Given the description of an element on the screen output the (x, y) to click on. 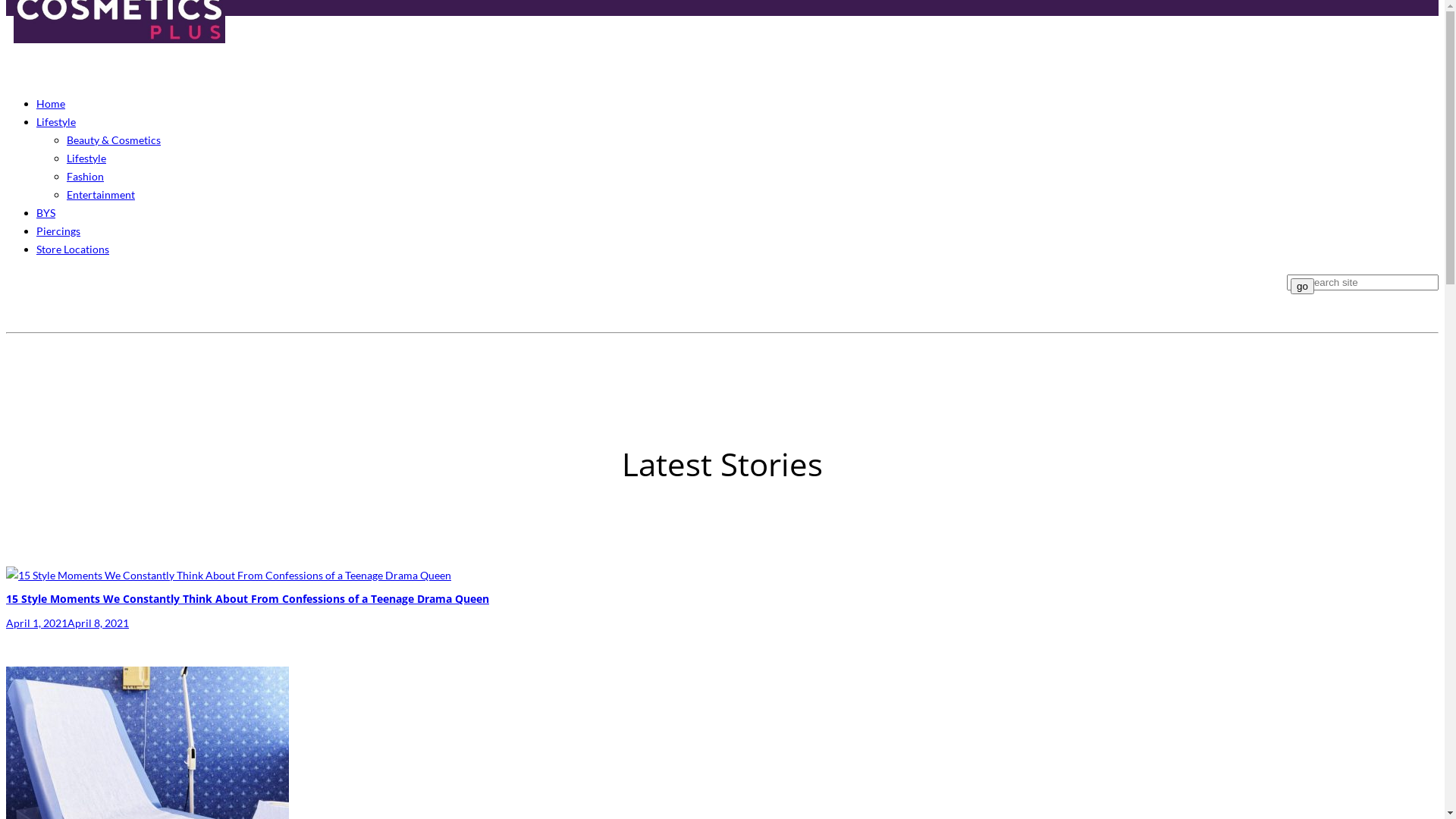
Fashion Element type: text (84, 175)
Beauty & Cosmetics Element type: text (113, 139)
Pinterest Element type: hover (47, 283)
Lifestyle Element type: text (86, 157)
Home Element type: text (50, 103)
Instagram Element type: hover (76, 283)
Facebook Element type: hover (19, 283)
BYS Element type: text (45, 212)
Store Locations Element type: text (72, 248)
Lifestyle Element type: text (55, 121)
go Element type: text (1302, 286)
April 1, 2021April 8, 2021 Element type: text (67, 622)
Piercings Element type: text (58, 230)
Entertainment Element type: text (100, 194)
